Given the description of an element on the screen output the (x, y) to click on. 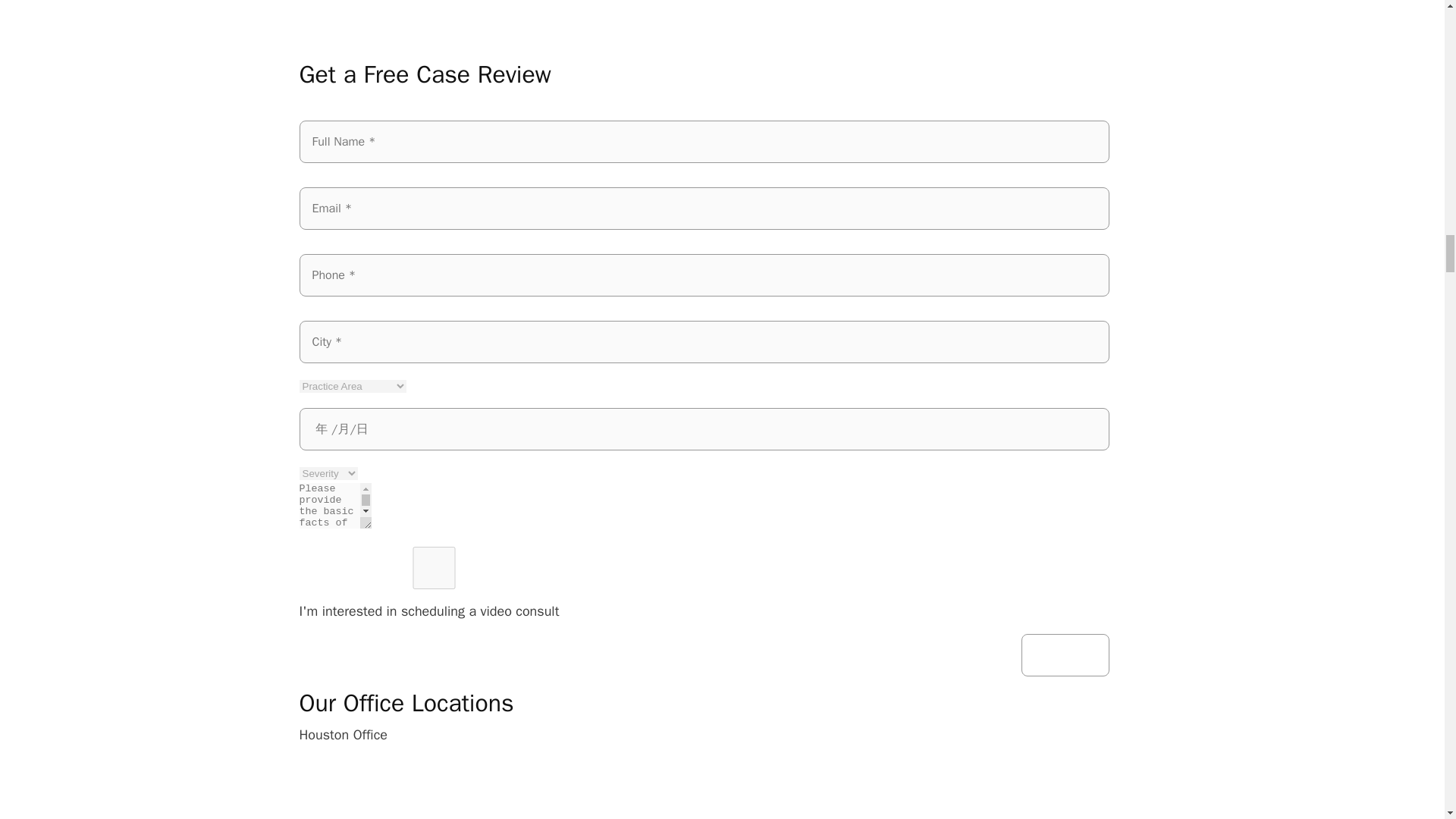
Submit (1065, 654)
I'm interested in scheduling a video consult (433, 567)
